Given the description of an element on the screen output the (x, y) to click on. 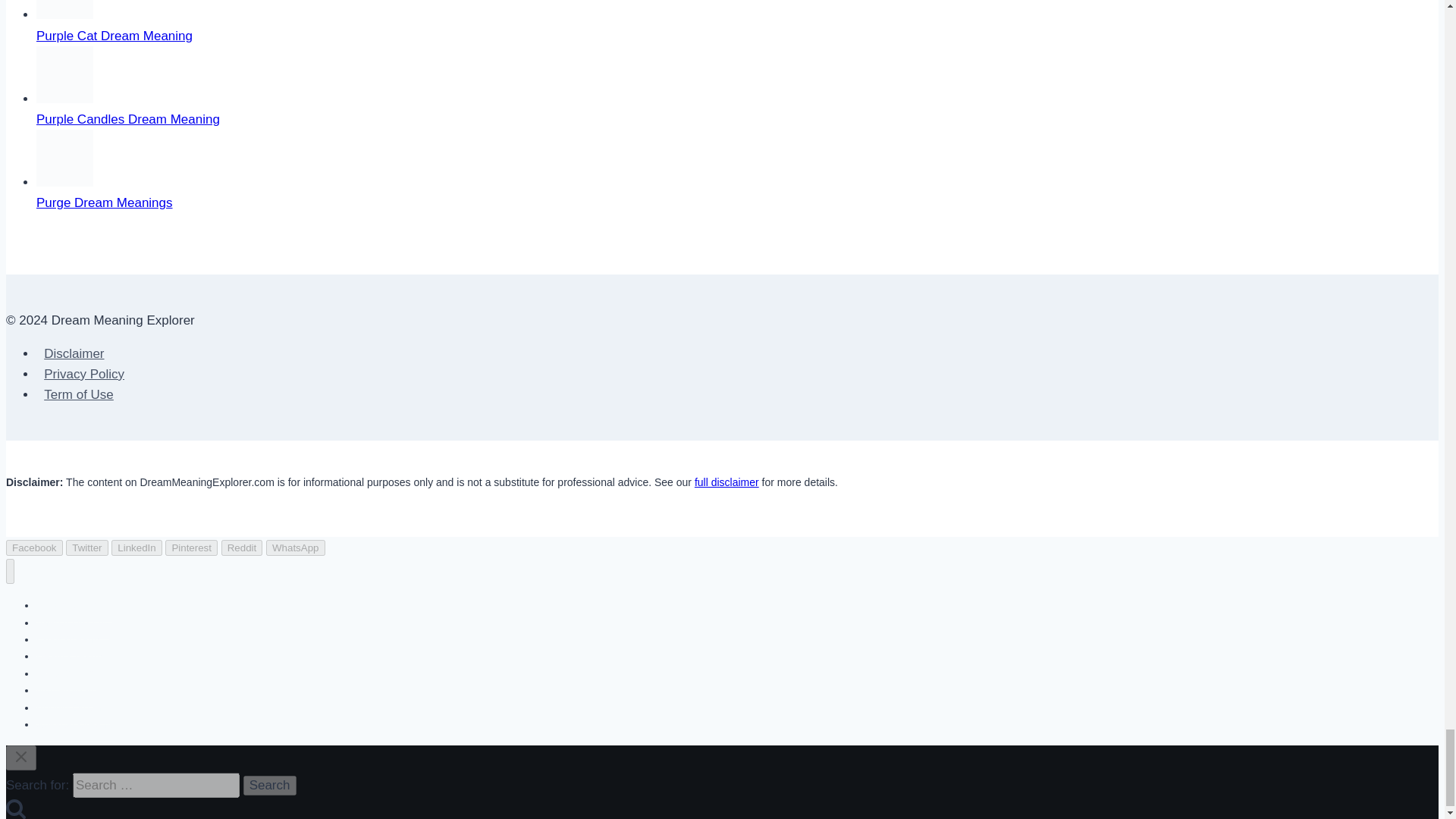
Toggle Menu Close (20, 756)
Search (270, 785)
Search (270, 785)
